Given the description of an element on the screen output the (x, y) to click on. 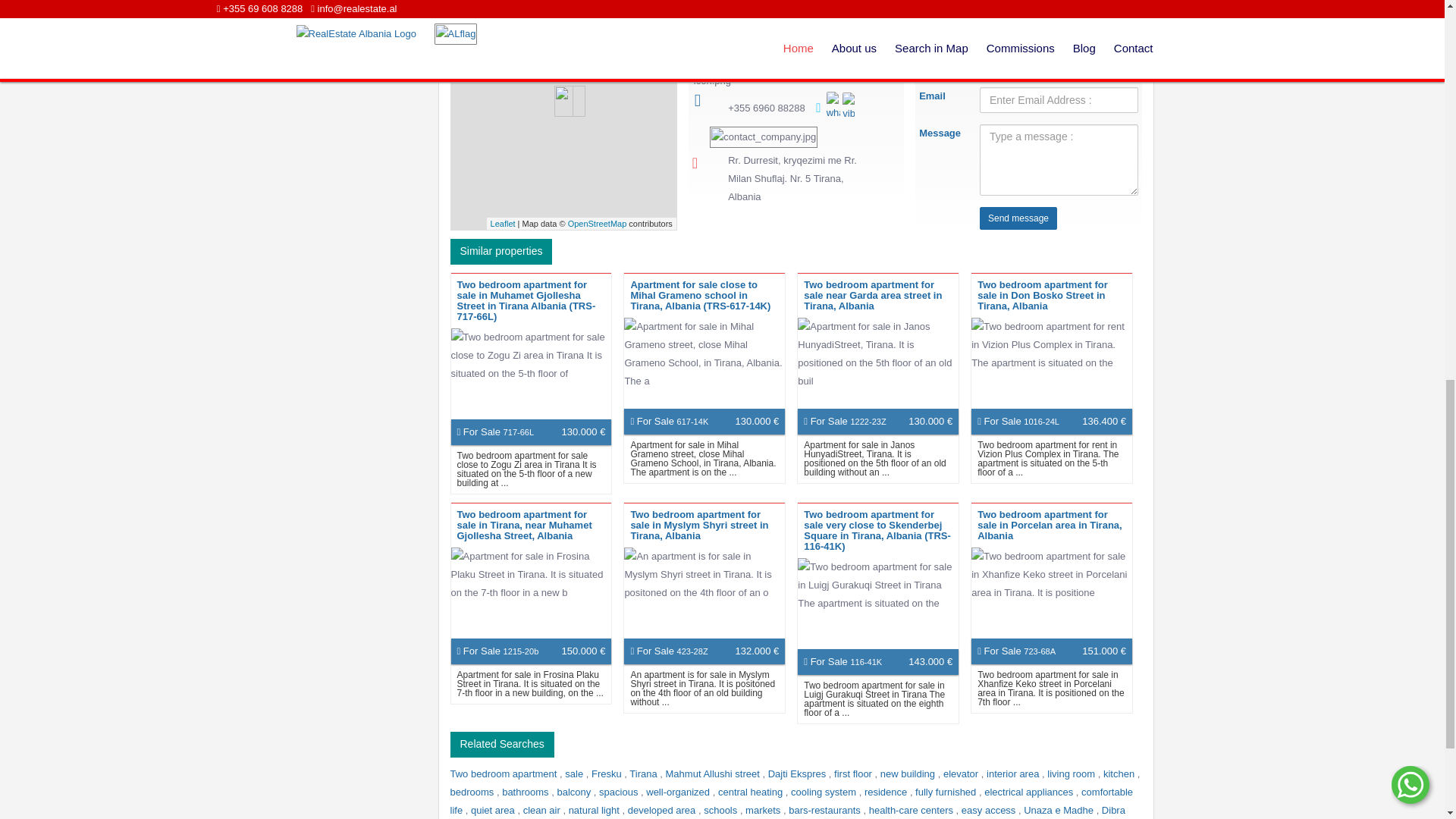
Tirana (643, 773)
Leaflet (502, 223)
Mahmut Allushi street (713, 773)
Two bedroom apartment (504, 773)
sale (574, 773)
Dajti Ekspres (798, 773)
